Given the description of an element on the screen output the (x, y) to click on. 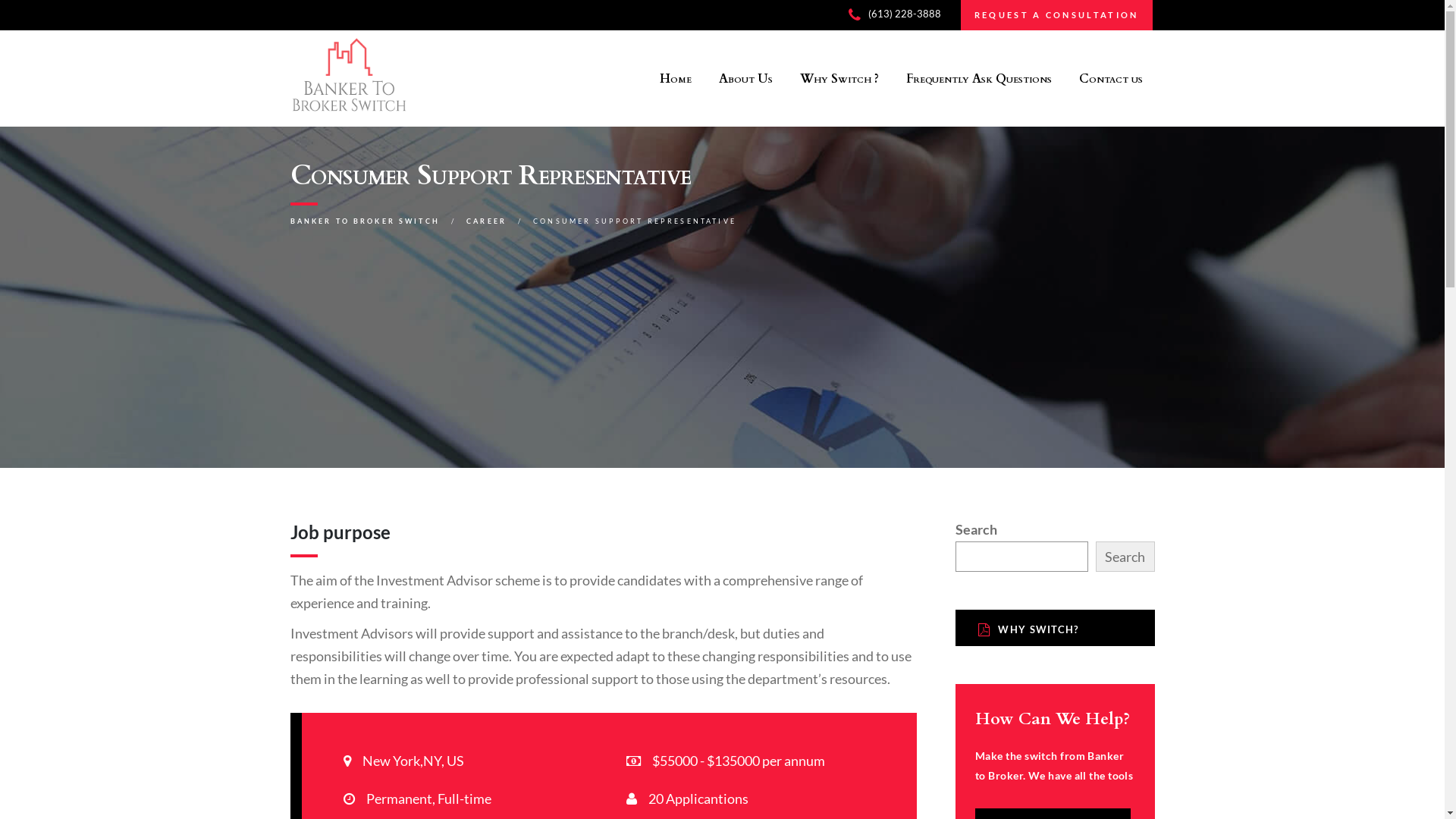
About Us Element type: text (745, 78)
Frequently Ask Questions Element type: text (978, 78)
WHY SWITCH? Element type: text (1054, 627)
Home Element type: text (674, 78)
Contact us Element type: text (1110, 78)
Search Element type: text (1124, 556)
Why Switch ? Element type: text (839, 78)
BANKER TO BROKER SWITCH Element type: text (364, 220)
CAREER Element type: text (486, 220)
REQUEST A CONSULTATION Element type: text (1056, 15)
